Given the description of an element on the screen output the (x, y) to click on. 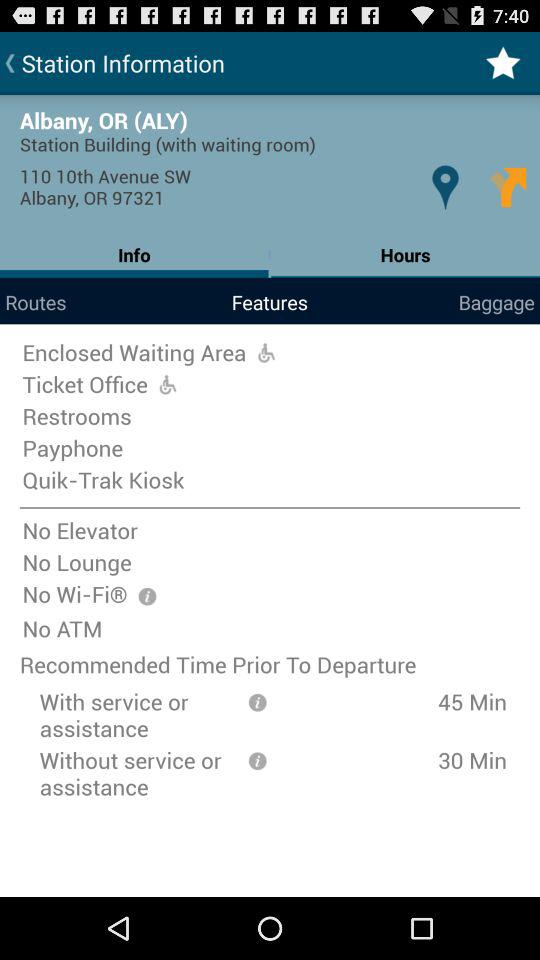
informationmation (257, 700)
